Given the description of an element on the screen output the (x, y) to click on. 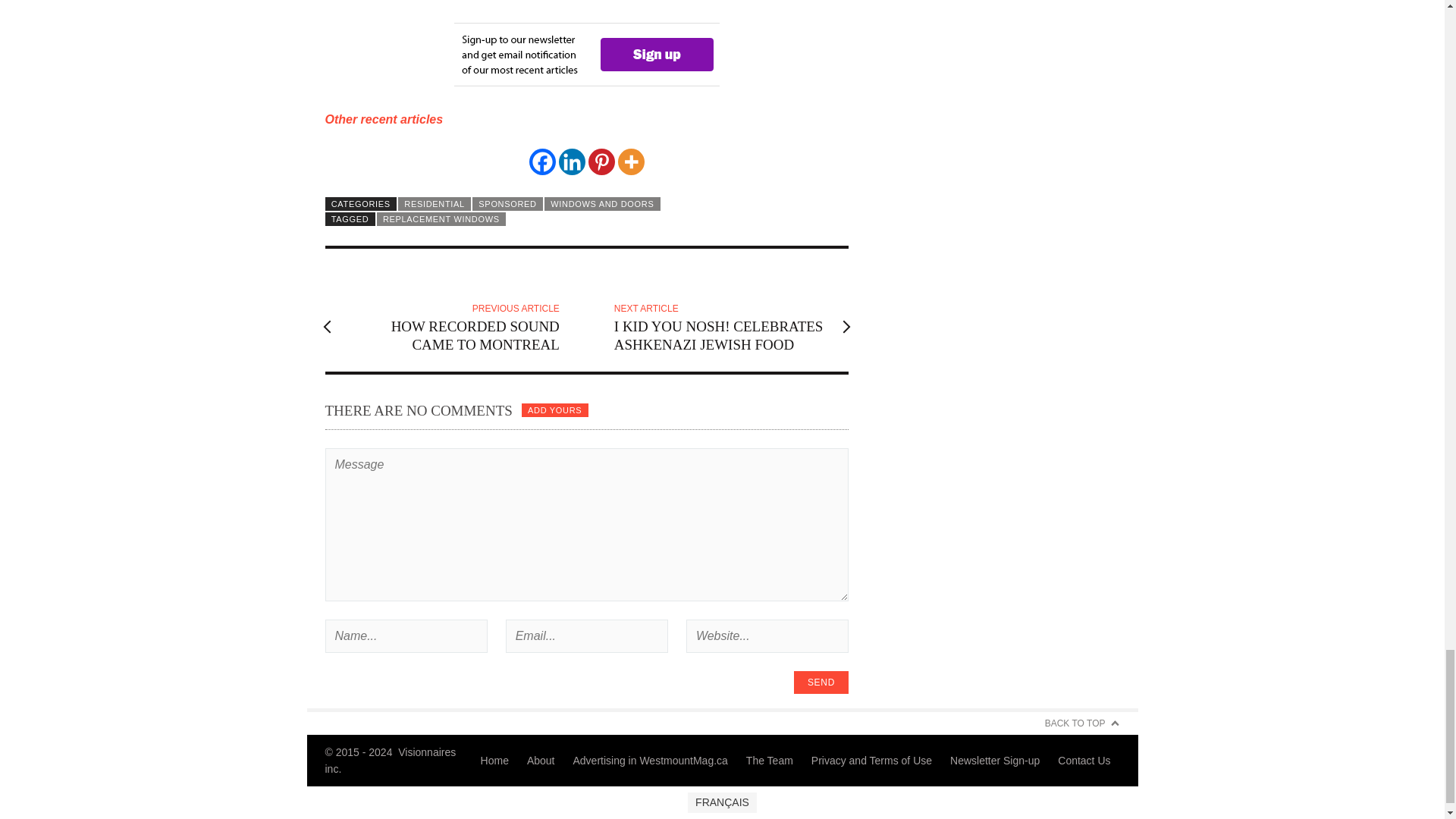
Linkedin (572, 161)
Facebook (542, 161)
Pinterest (601, 161)
More (631, 161)
Send (820, 681)
View all posts in Residential (433, 203)
View all posts in sponsored (507, 203)
